Given the description of an element on the screen output the (x, y) to click on. 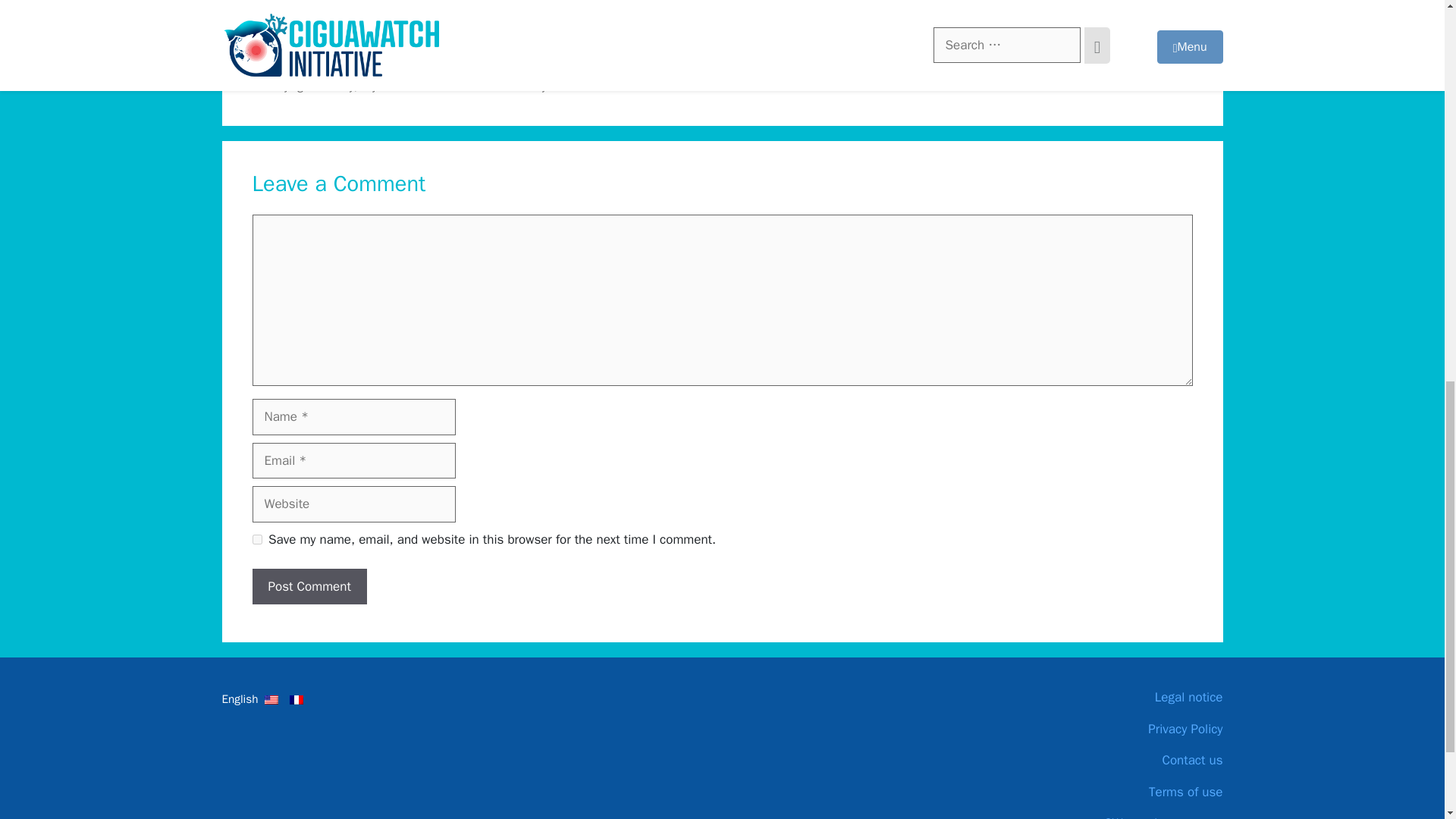
Next (447, 86)
Privacy Policy (1108, 729)
Contact us (1108, 760)
Terms of use (1108, 792)
Uncategorized (303, 53)
Post Comment (308, 586)
CW members access (1108, 816)
Post Comment (308, 586)
Previous (479, 69)
yes (256, 539)
Legal notice (1108, 697)
